Given the description of an element on the screen output the (x, y) to click on. 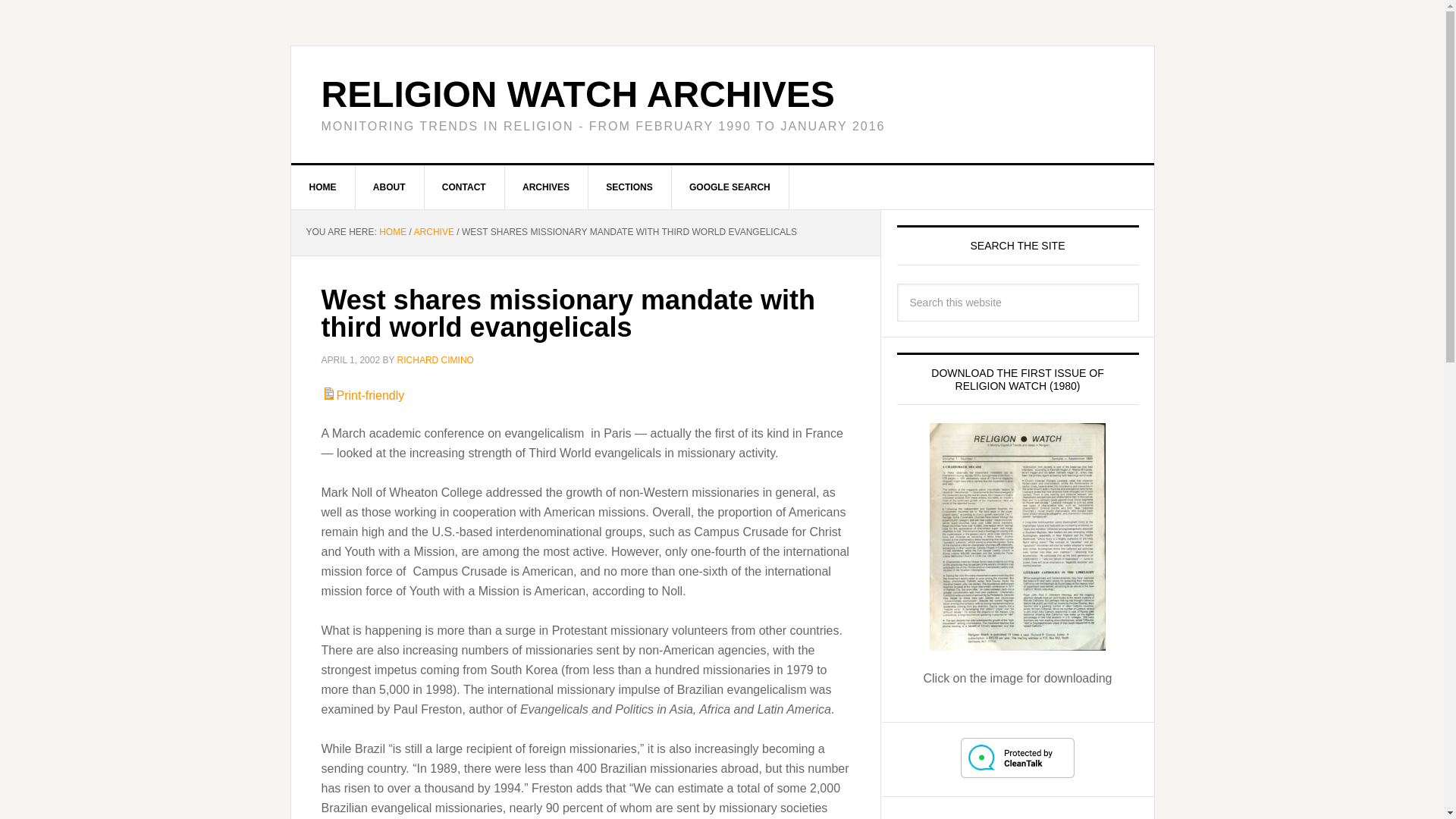
ARCHIVES (545, 187)
RICHARD CIMINO (435, 359)
Print-friendly (362, 395)
RELIGION WATCH ARCHIVES (577, 94)
GOOGLE SEARCH (730, 187)
ARCHIVE (433, 231)
HOME (392, 231)
SECTIONS (629, 187)
ABOUT (390, 187)
CONTACT (464, 187)
HOME (323, 187)
